Given the description of an element on the screen output the (x, y) to click on. 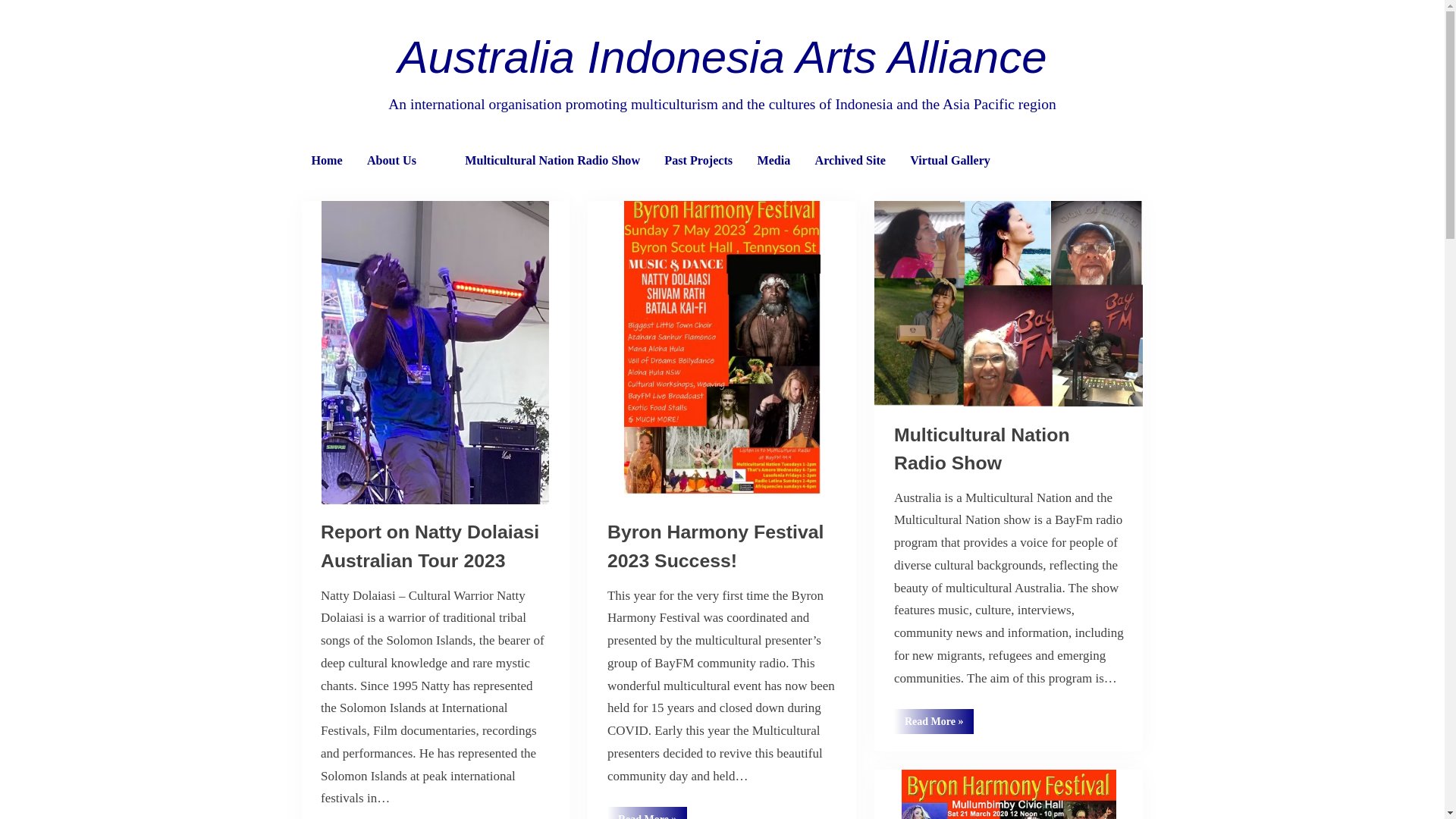
Byron Harmony Festival 2023 Success! Element type: text (715, 545)
Australia Indonesia Arts Alliance Element type: text (721, 56)
About Us Element type: text (391, 161)
Past Projects Element type: text (698, 161)
Media Element type: text (773, 161)
Multicultural Nation Radio Show Element type: text (552, 161)
Uncategorized Element type: text (945, 762)
Multicultural Nation Radio Show Element type: text (982, 448)
Toggle sub-menu Element type: text (438, 161)
Report on Natty Dolaiasi Australian Tour 2023 Element type: text (429, 545)
Archived Site Element type: text (850, 161)
Virtual Gallery Element type: text (949, 161)
Home Element type: text (326, 161)
